Given the description of an element on the screen output the (x, y) to click on. 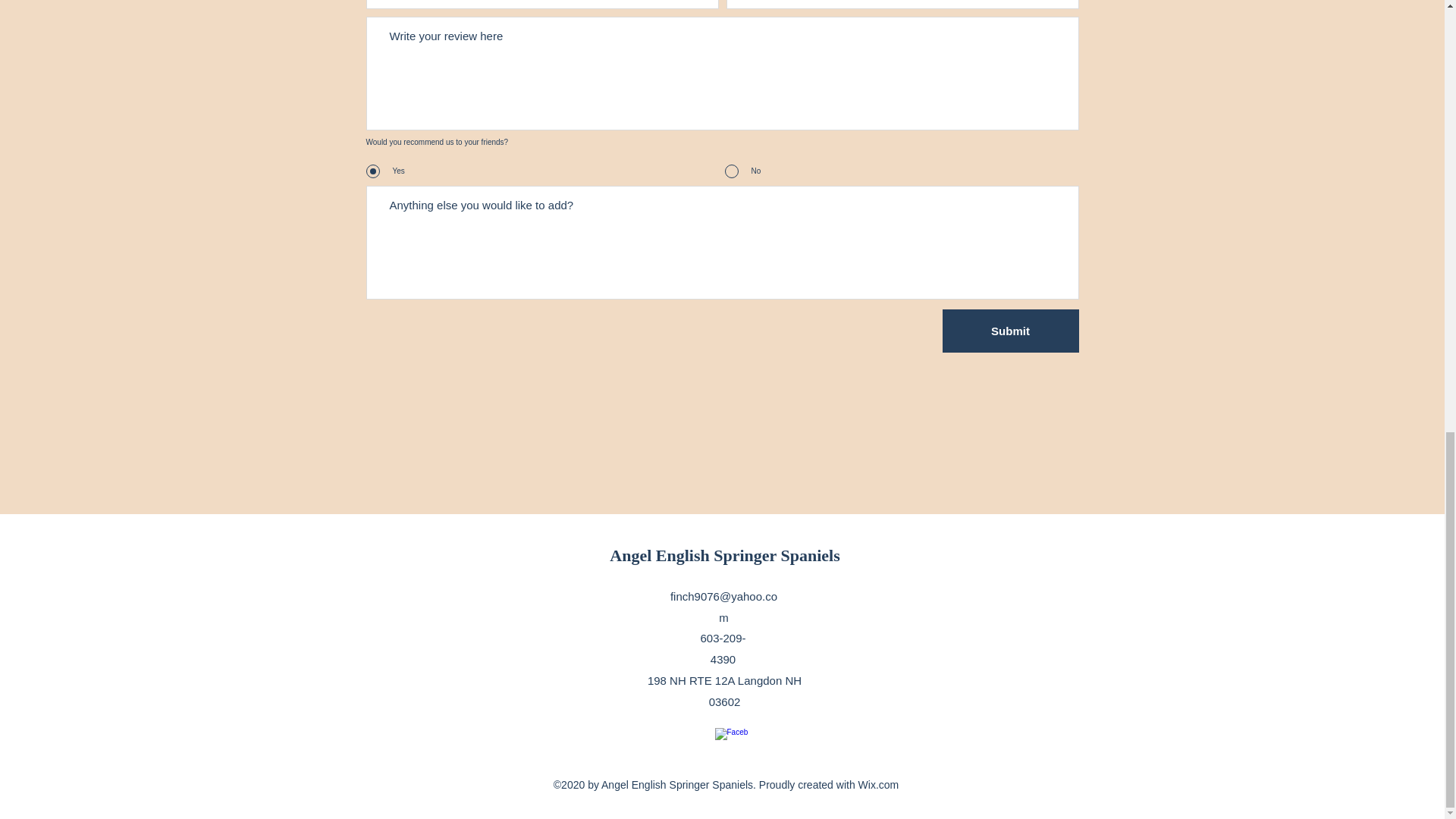
Angel English Springer Spaniels (725, 555)
Submit (1010, 330)
